Given the description of an element on the screen output the (x, y) to click on. 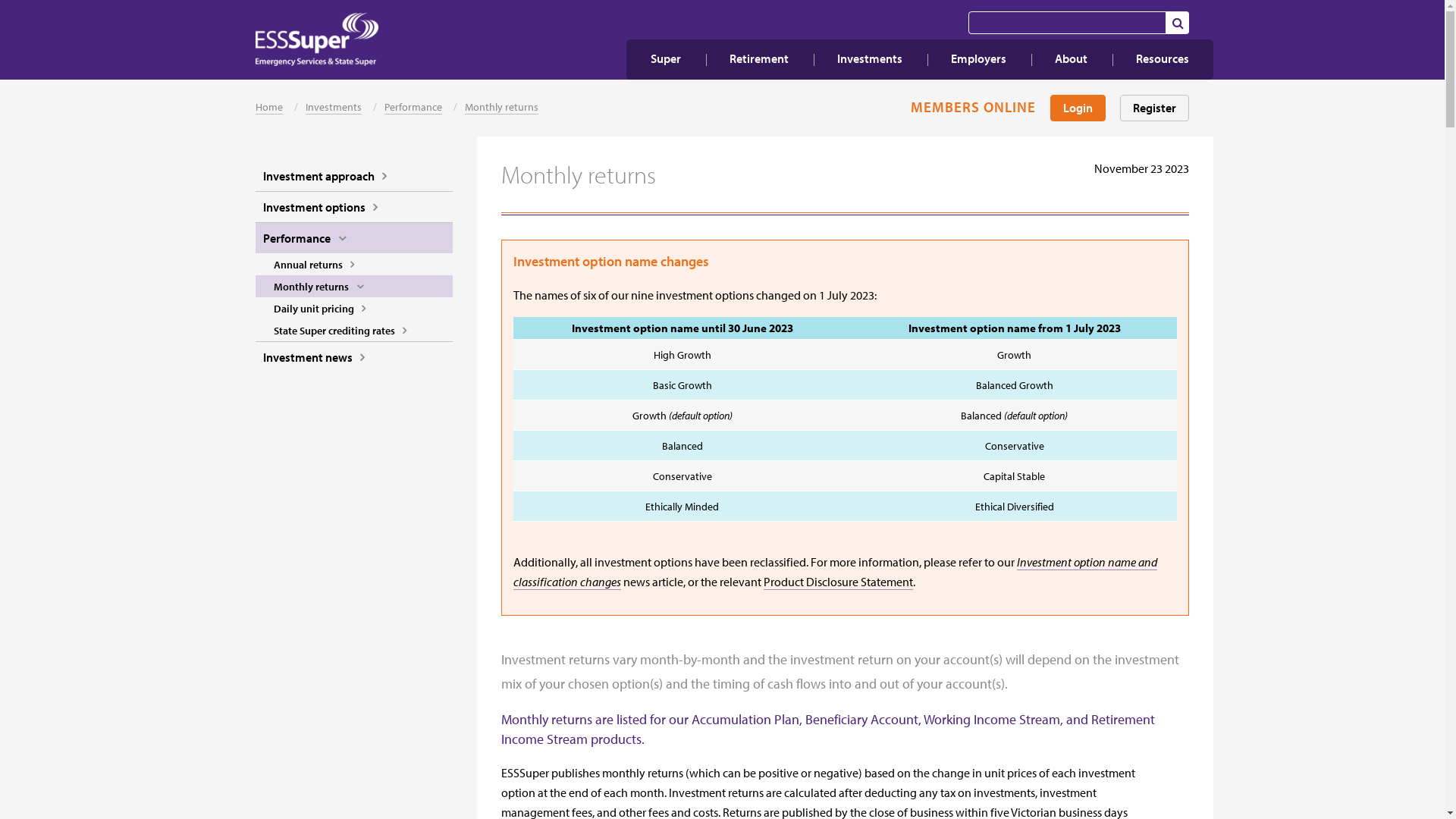
Super Element type: text (665, 59)
Login Element type: text (1077, 107)
Daily unit pricing Element type: text (353, 308)
Performance Element type: text (413, 106)
Annual returns Element type: text (353, 264)
State Super crediting rates Element type: text (353, 330)
Monthly returns Element type: text (501, 106)
Investment approach Element type: text (353, 175)
Performance Element type: text (353, 237)
Investments Element type: text (333, 106)
Investment option name and classification changes Element type: text (835, 571)
Home Element type: text (268, 106)
Product Disclosure Statement Element type: text (838, 581)
Resources Element type: text (1162, 59)
Employers Element type: text (978, 59)
About Element type: text (1070, 59)
Investment options Element type: text (353, 206)
Retirement Element type: text (758, 59)
Register Element type: text (1154, 107)
Investment news Element type: text (353, 357)
Keyword Element type: hover (1067, 22)
Monthly returns Element type: text (353, 286)
Search Element type: text (1177, 22)
Investments Element type: text (869, 59)
